Given the description of an element on the screen output the (x, y) to click on. 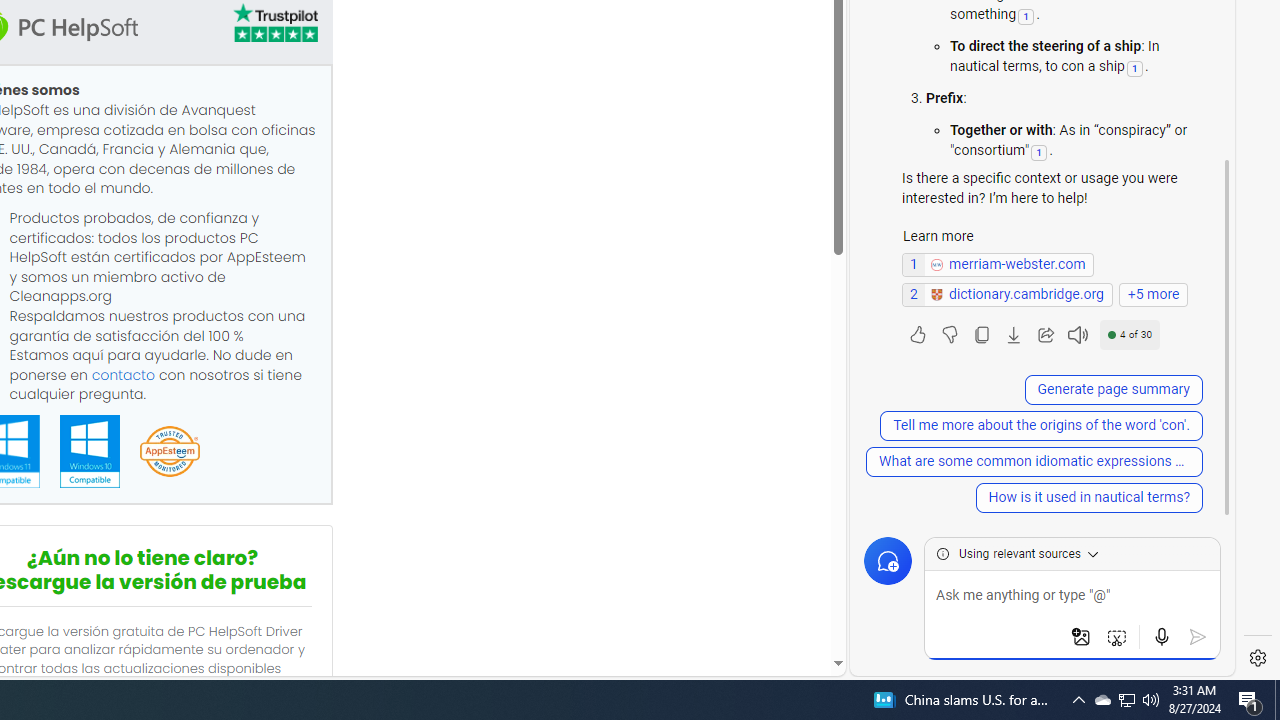
TrustPilot (274, 25)
contacto (123, 374)
App Esteem (169, 452)
App Esteem (169, 452)
TrustPilot (274, 22)
Windows 10 Compatible (89, 451)
